Given the description of an element on the screen output the (x, y) to click on. 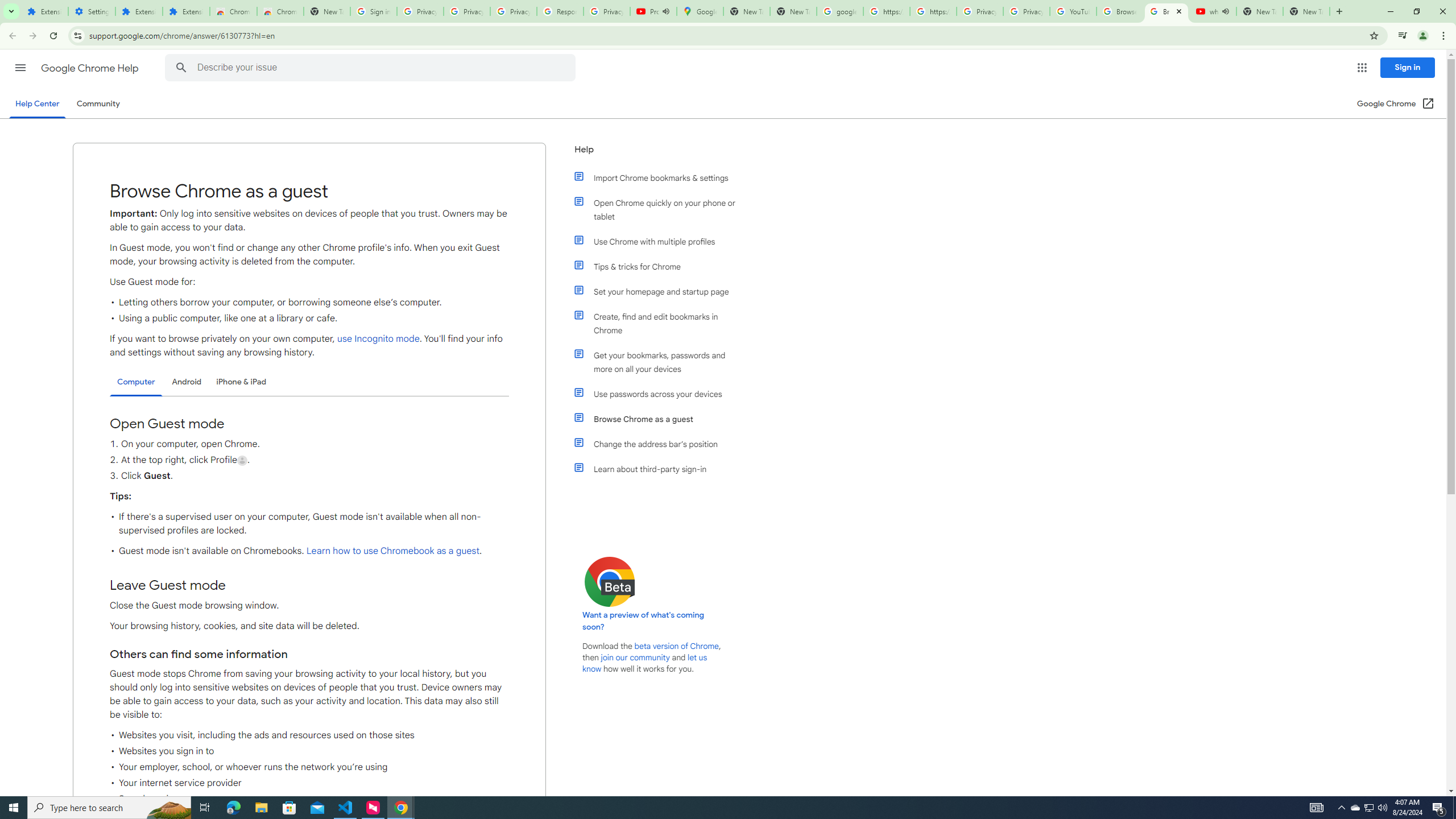
Chrome Beta logo (609, 581)
Profile (242, 460)
Chrome Web Store - Themes (279, 11)
use Incognito mode (377, 338)
Browse Chrome as a guest - Computer - Google Chrome Help (1120, 11)
Learn how to use Chromebook as a guest (392, 550)
Sign in - Google Accounts (373, 11)
Extensions (44, 11)
